Given the description of an element on the screen output the (x, y) to click on. 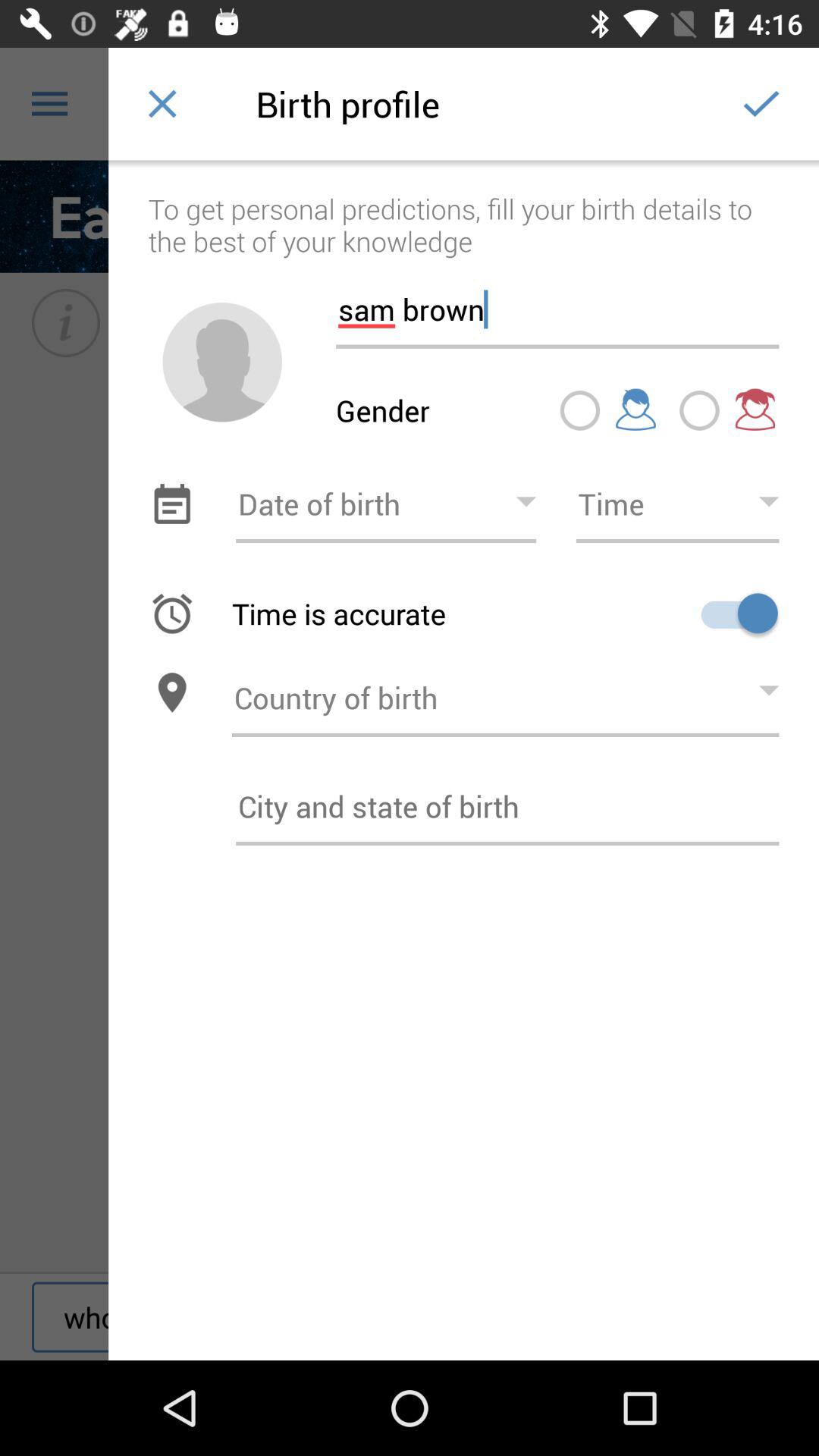
enter date of birth (386, 503)
